Given the description of an element on the screen output the (x, y) to click on. 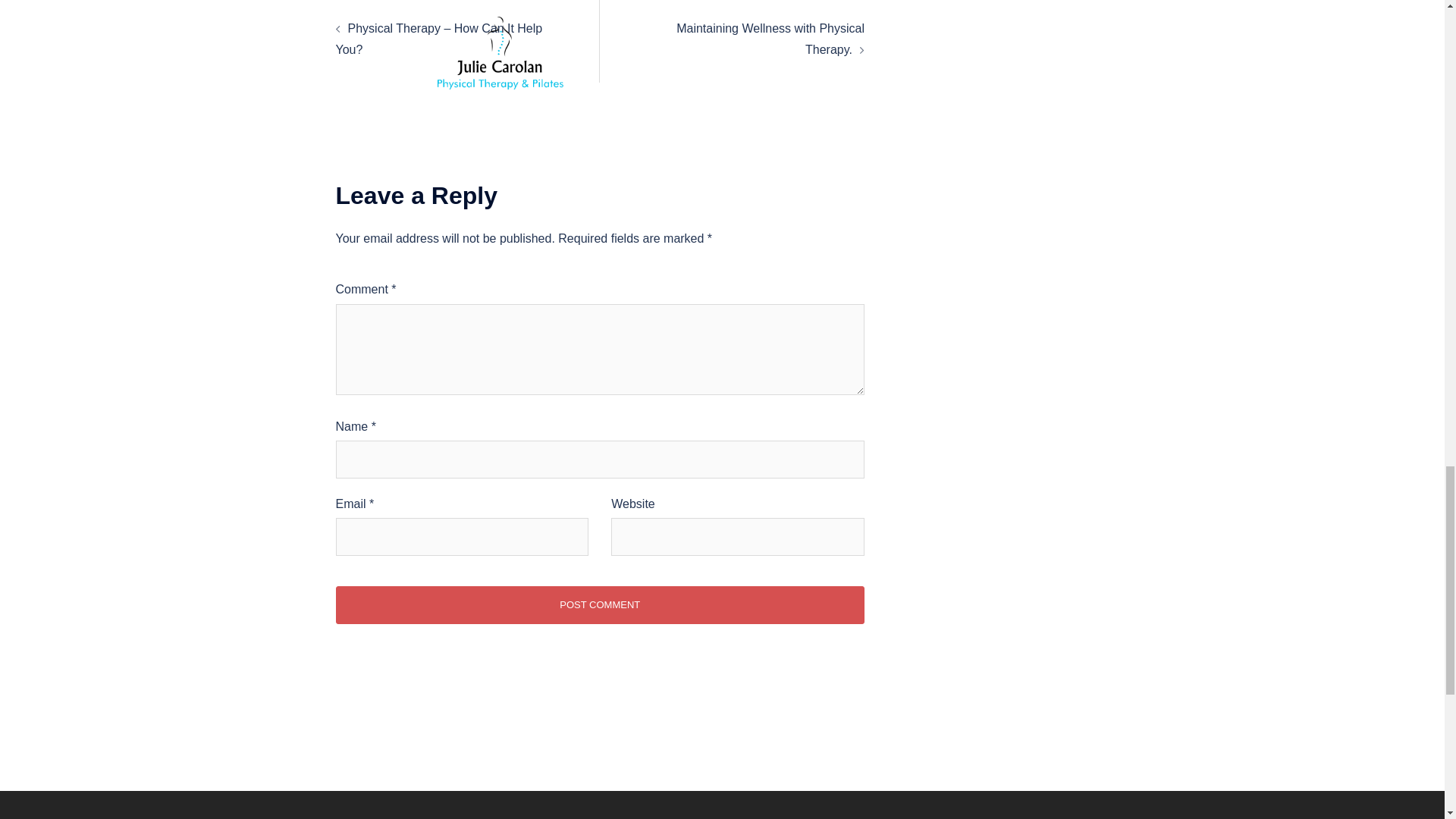
Post Comment (599, 605)
Maintaining Wellness with Physical Therapy. (770, 38)
Post Comment (599, 605)
